Given the description of an element on the screen output the (x, y) to click on. 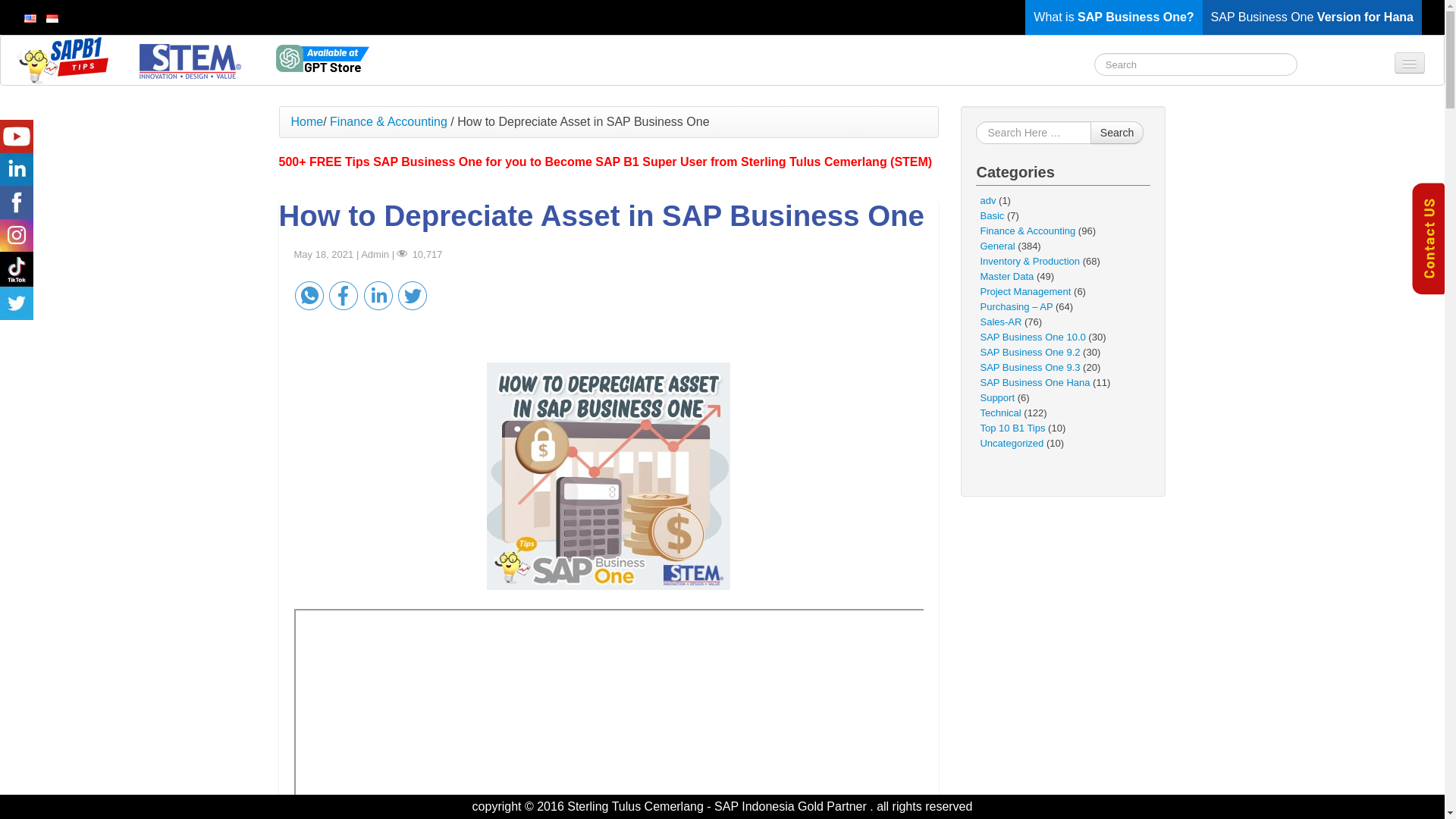
SAP Business One Tips by Sterling Tulus Cemerlang (188, 61)
Home (307, 121)
Now ChatGPT Available at SAP Business One Tips (322, 59)
